Given the description of an element on the screen output the (x, y) to click on. 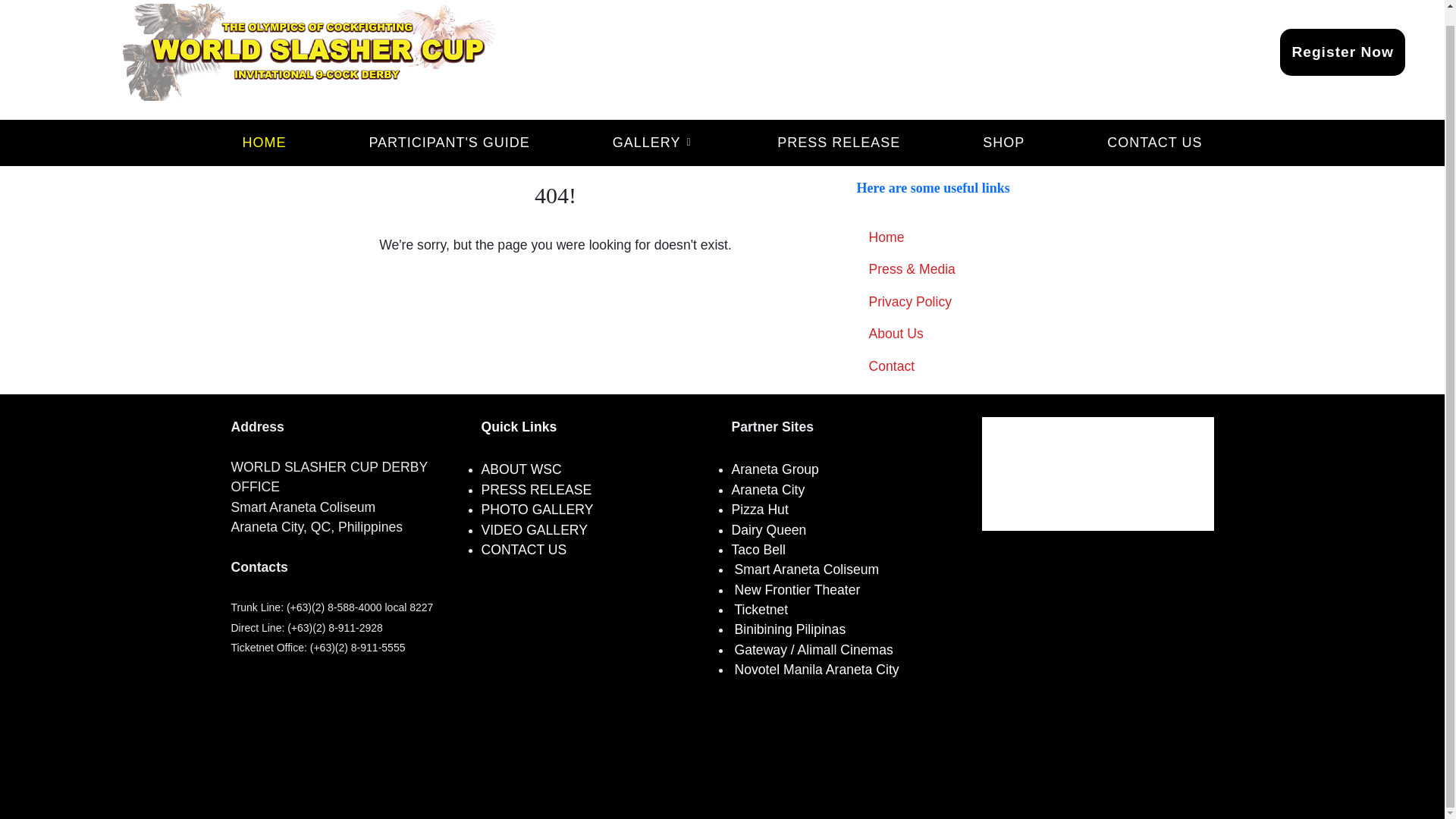
VIDEO GALLERY (533, 531)
ABOUT WSC (520, 472)
PRESS RELEASE (838, 142)
Contact (1014, 366)
CONTACT US (1154, 142)
About Us (1014, 333)
Privacy Policy (1014, 301)
GALLERY (653, 142)
CONTACT US (523, 550)
SHOP (1003, 142)
New Frontier Theater (796, 589)
Register Now (1342, 52)
Pizza Hut (758, 509)
PHOTO GALLERY (536, 511)
Araneta City (767, 489)
